Given the description of an element on the screen output the (x, y) to click on. 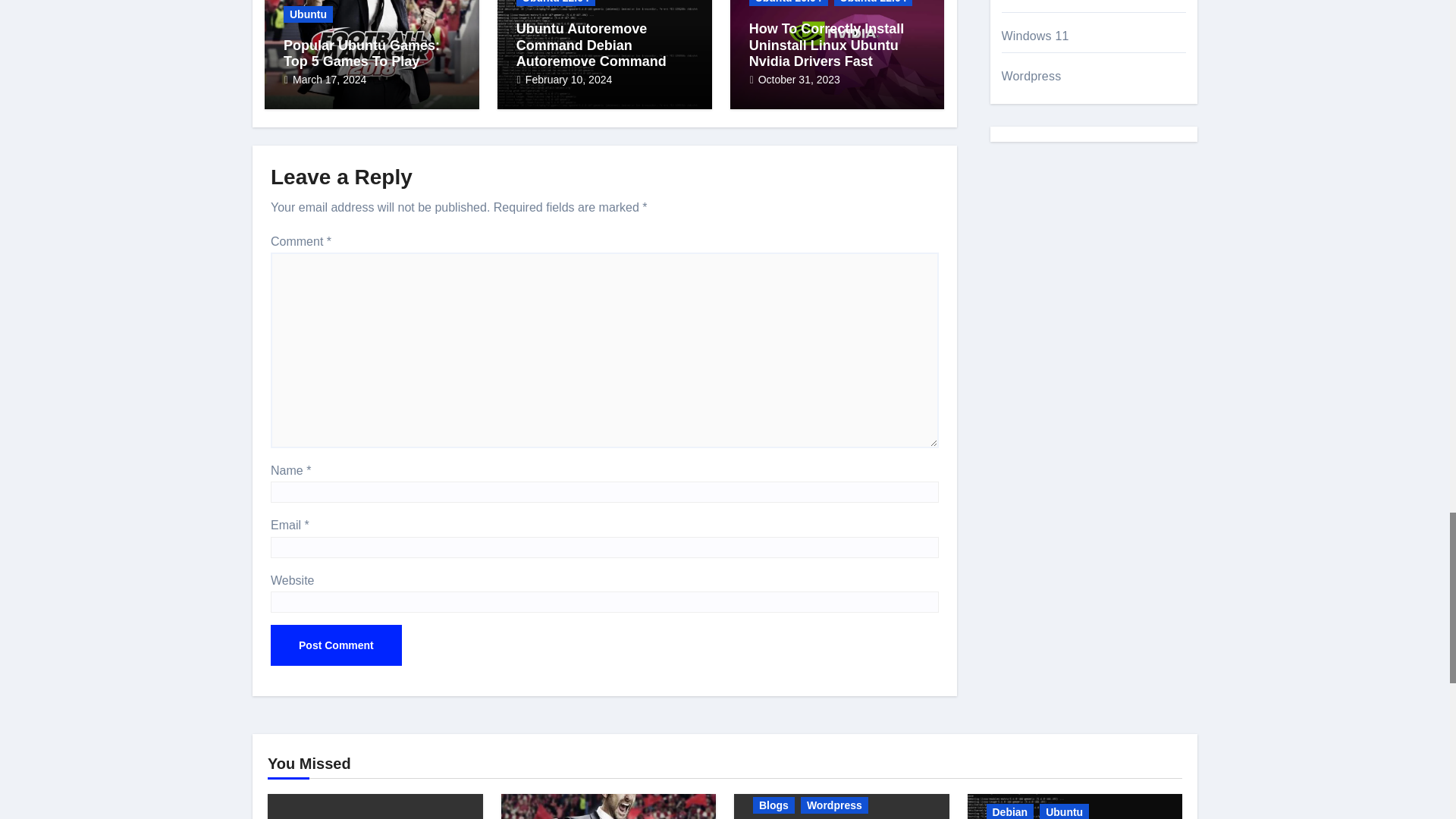
Post Comment (335, 644)
Permalink to: Popular Ubuntu Games: Top 5 Games To Play (361, 53)
